Given the description of an element on the screen output the (x, y) to click on. 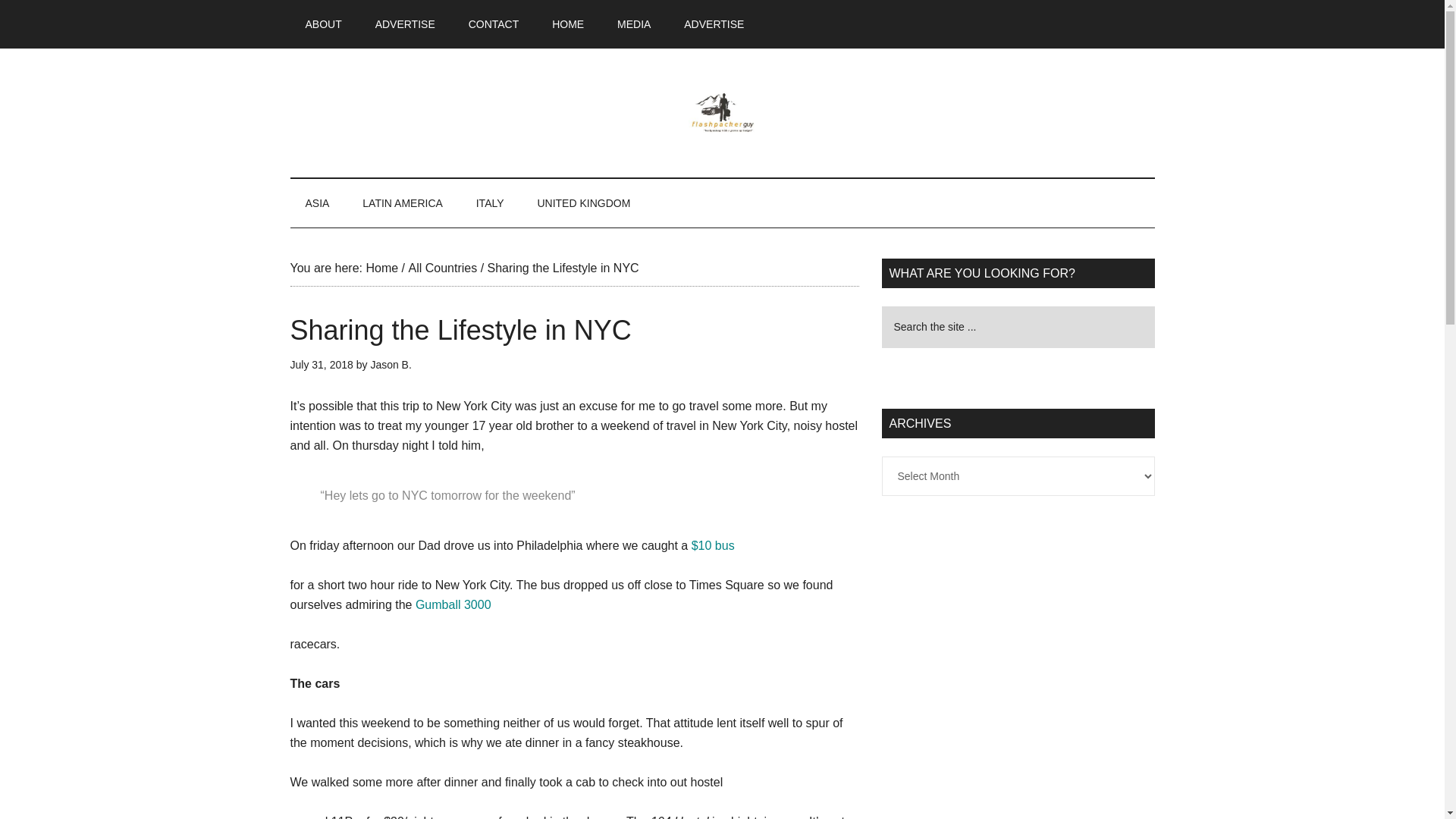
ITALY (490, 203)
Home (381, 267)
Jason B. (389, 364)
Gumball 3000 (453, 604)
ASIA (316, 203)
ADVERTISE (404, 24)
HOME (567, 24)
ADVERTISE (713, 24)
